Given the description of an element on the screen output the (x, y) to click on. 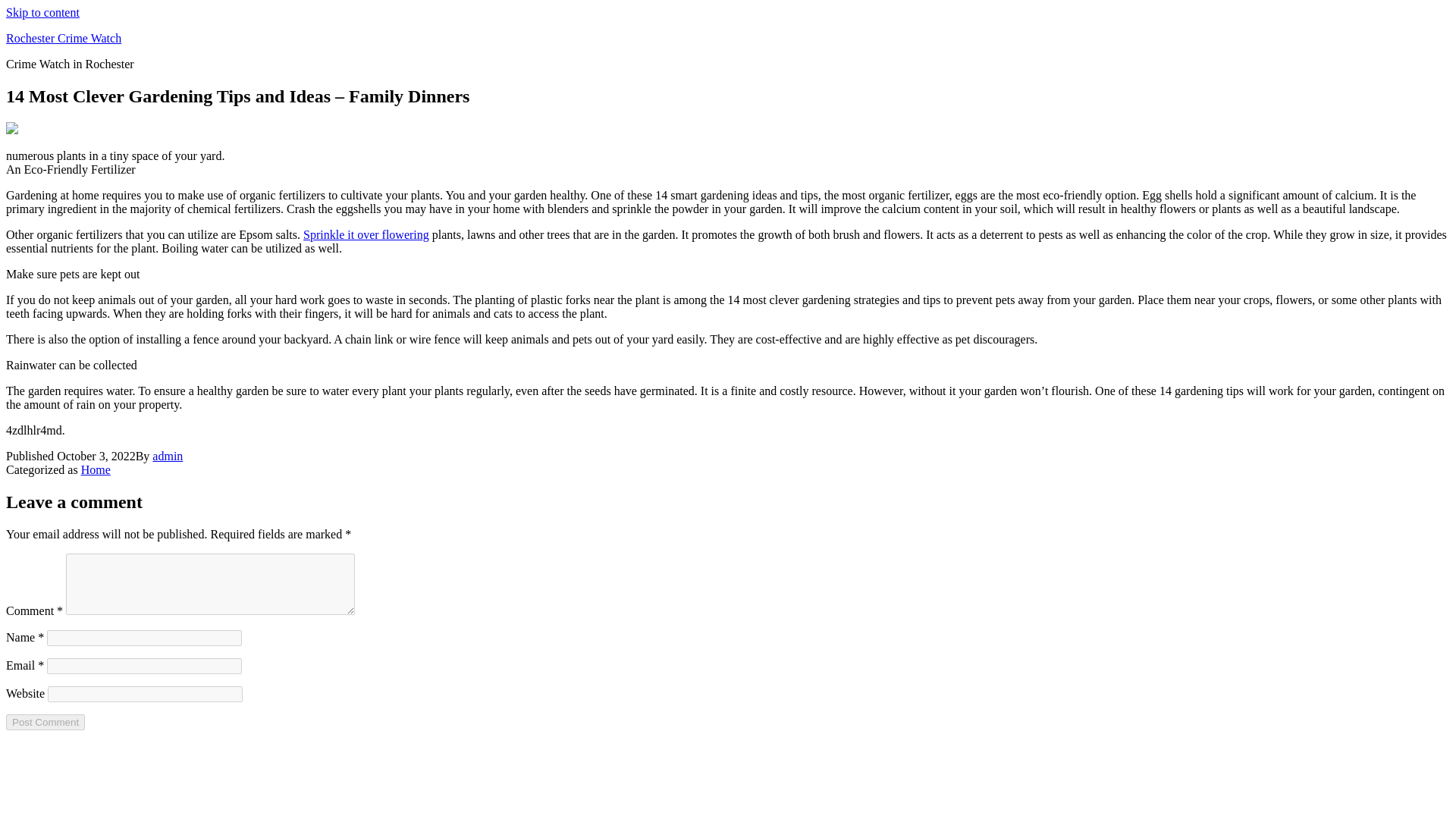
admin (167, 455)
Rochester Crime Watch (62, 38)
Skip to content (42, 11)
Home (95, 469)
Sprinkle it over flowering (365, 234)
